Given the description of an element on the screen output the (x, y) to click on. 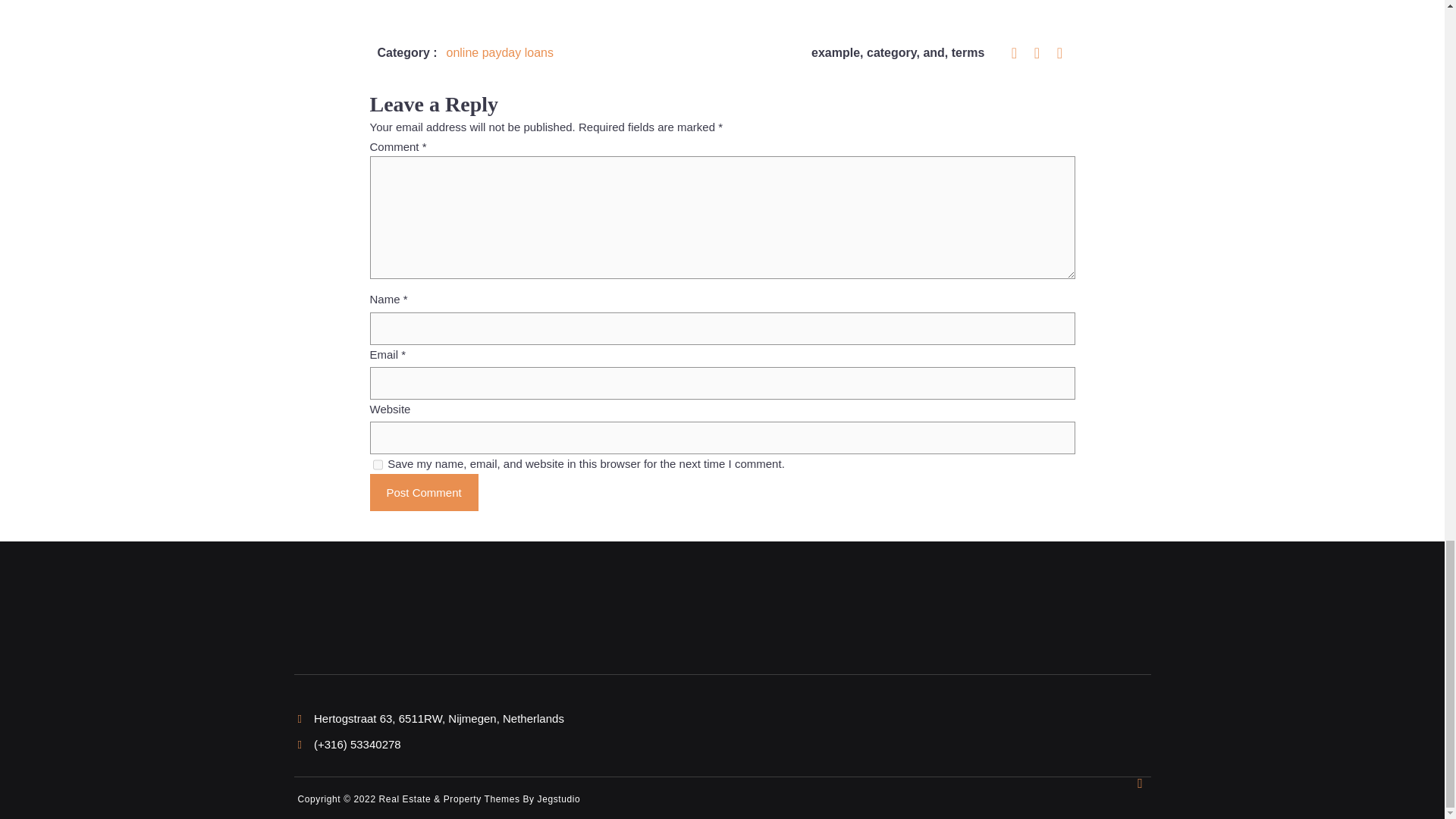
Post Comment (424, 492)
Hertogstraat 63, 6511RW, Nijmegen, Netherlands (430, 717)
Post Comment (424, 492)
